Given the description of an element on the screen output the (x, y) to click on. 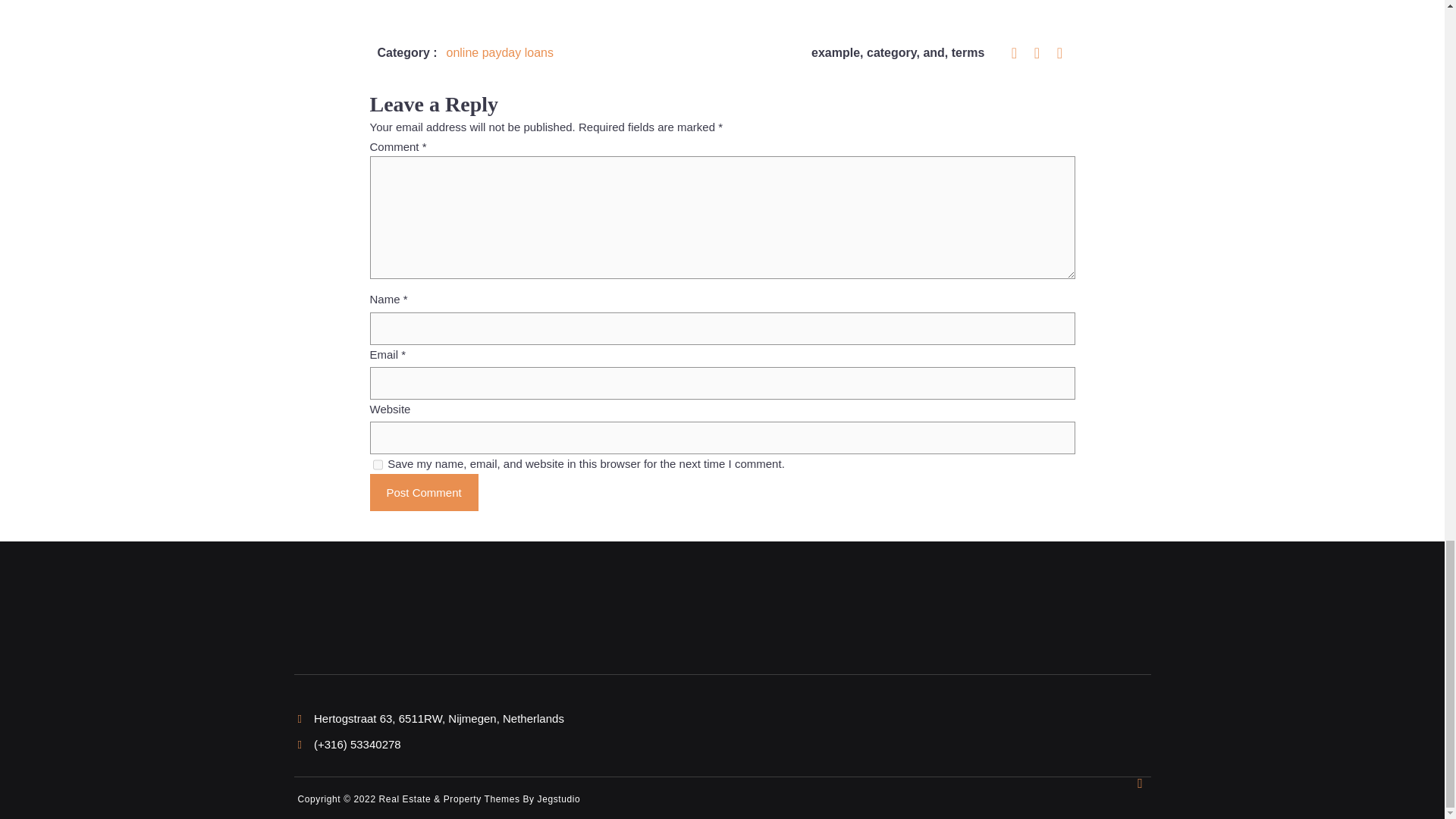
Post Comment (424, 492)
Hertogstraat 63, 6511RW, Nijmegen, Netherlands (430, 717)
Post Comment (424, 492)
